Given the description of an element on the screen output the (x, y) to click on. 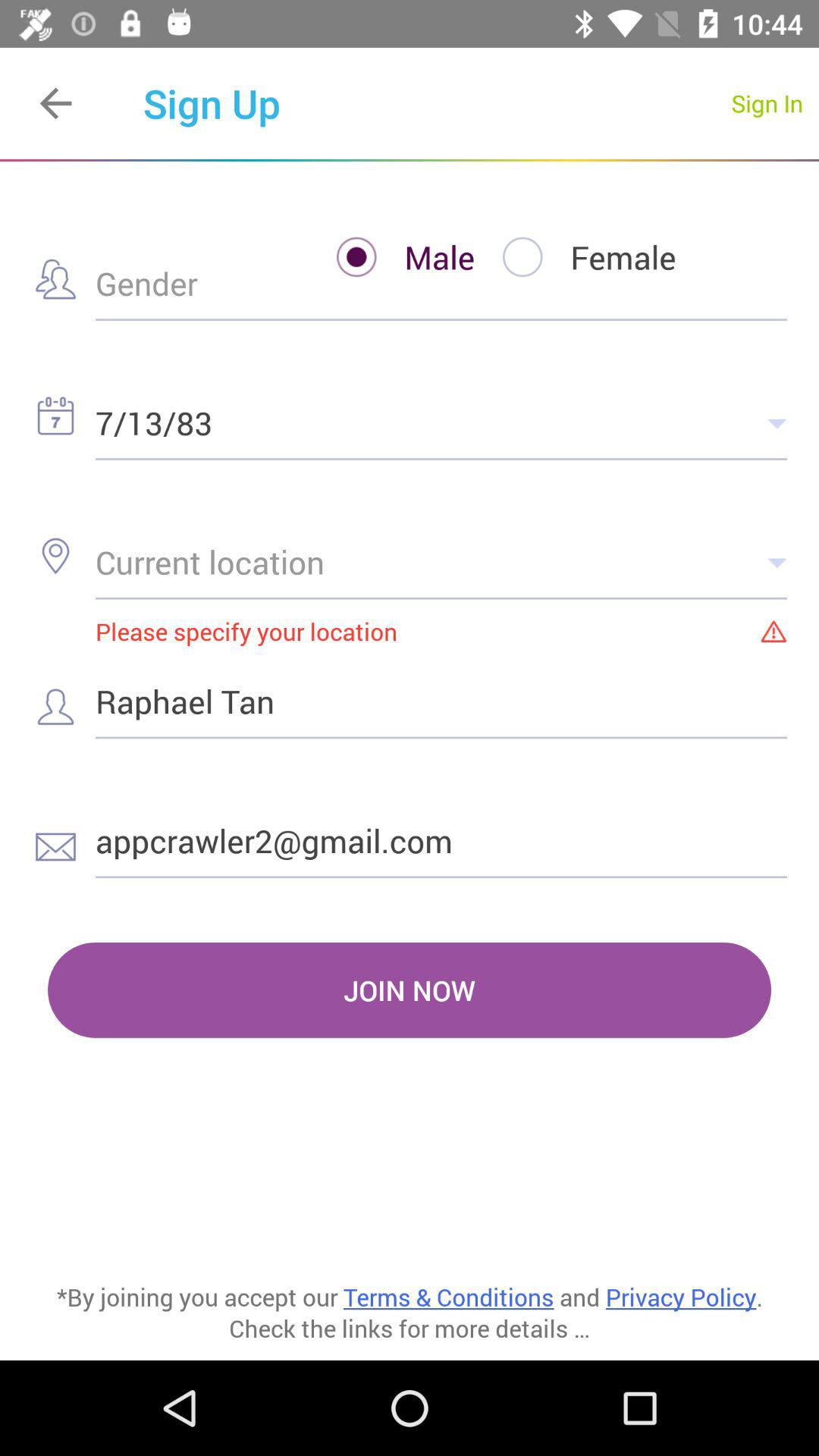
click the item next to the female item (391, 256)
